Given the description of an element on the screen output the (x, y) to click on. 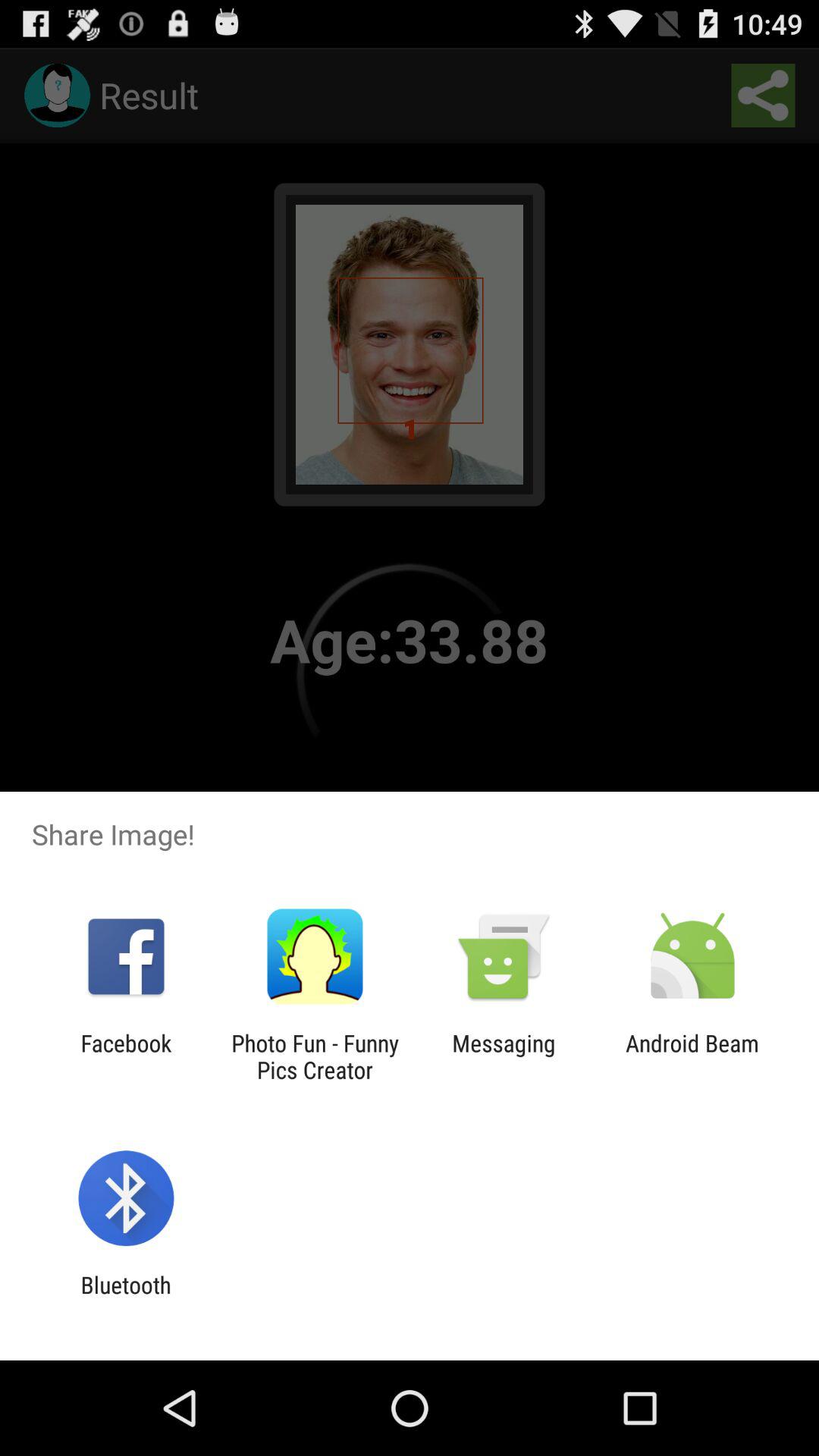
click the app to the left of the messaging (314, 1056)
